Given the description of an element on the screen output the (x, y) to click on. 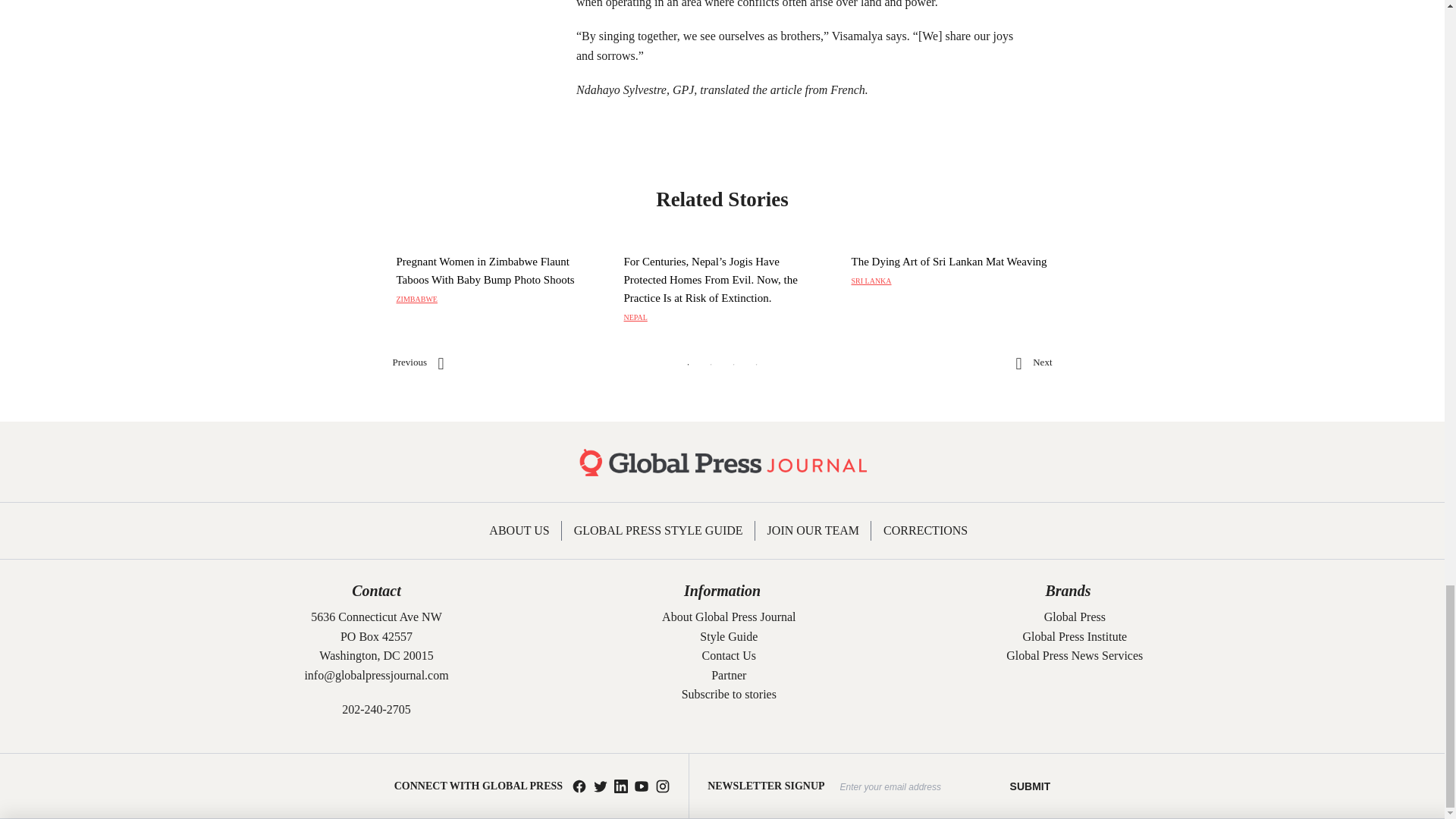
Submit (1030, 785)
